Given the description of an element on the screen output the (x, y) to click on. 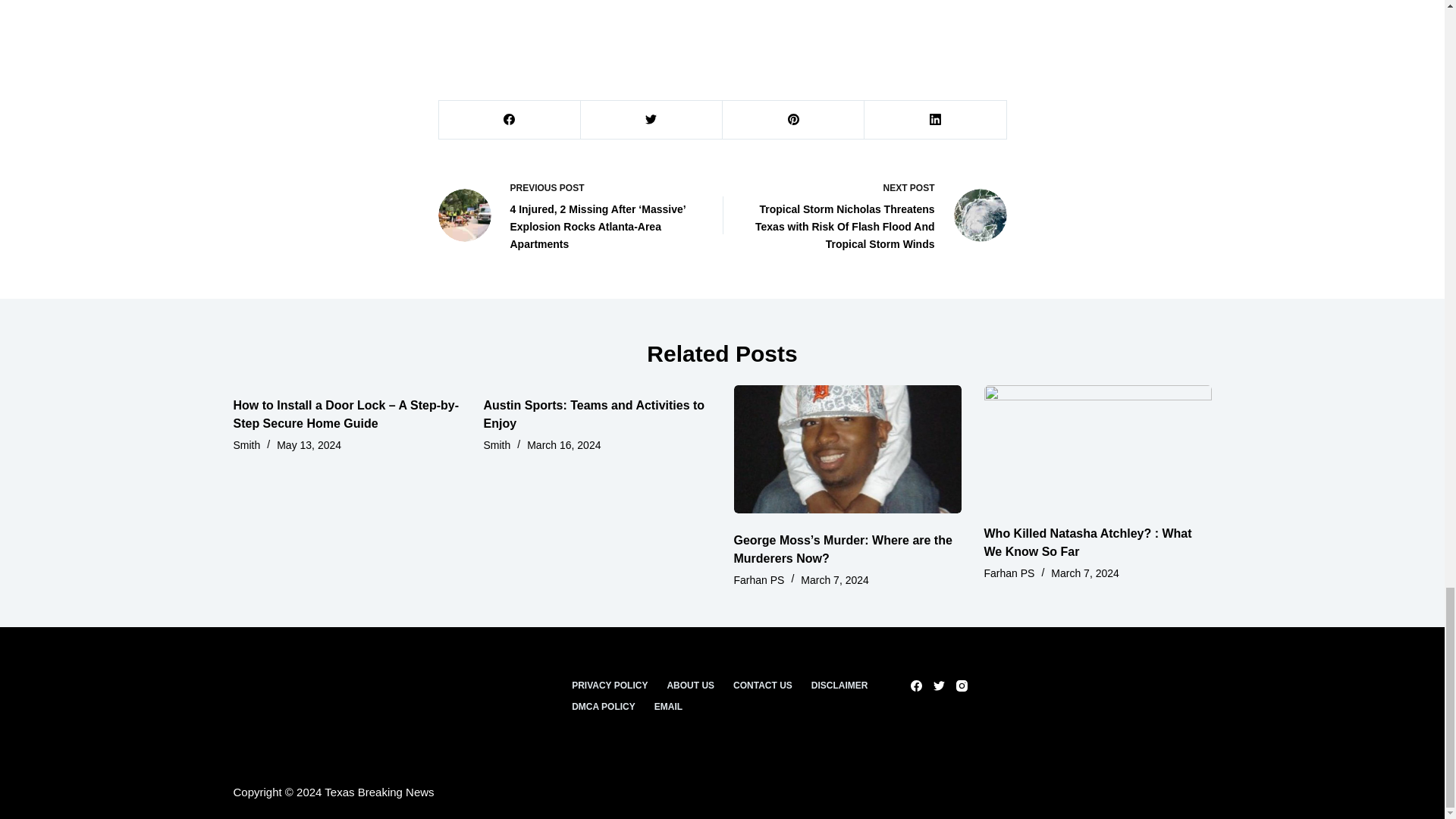
Posts by Farhan PS (1009, 573)
Smith (246, 444)
Posts by Smith (246, 444)
Posts by Smith (497, 444)
Austin Sports: Teams and Activities to Enjoy (593, 413)
Posts by Farhan PS (758, 580)
